Given the description of an element on the screen output the (x, y) to click on. 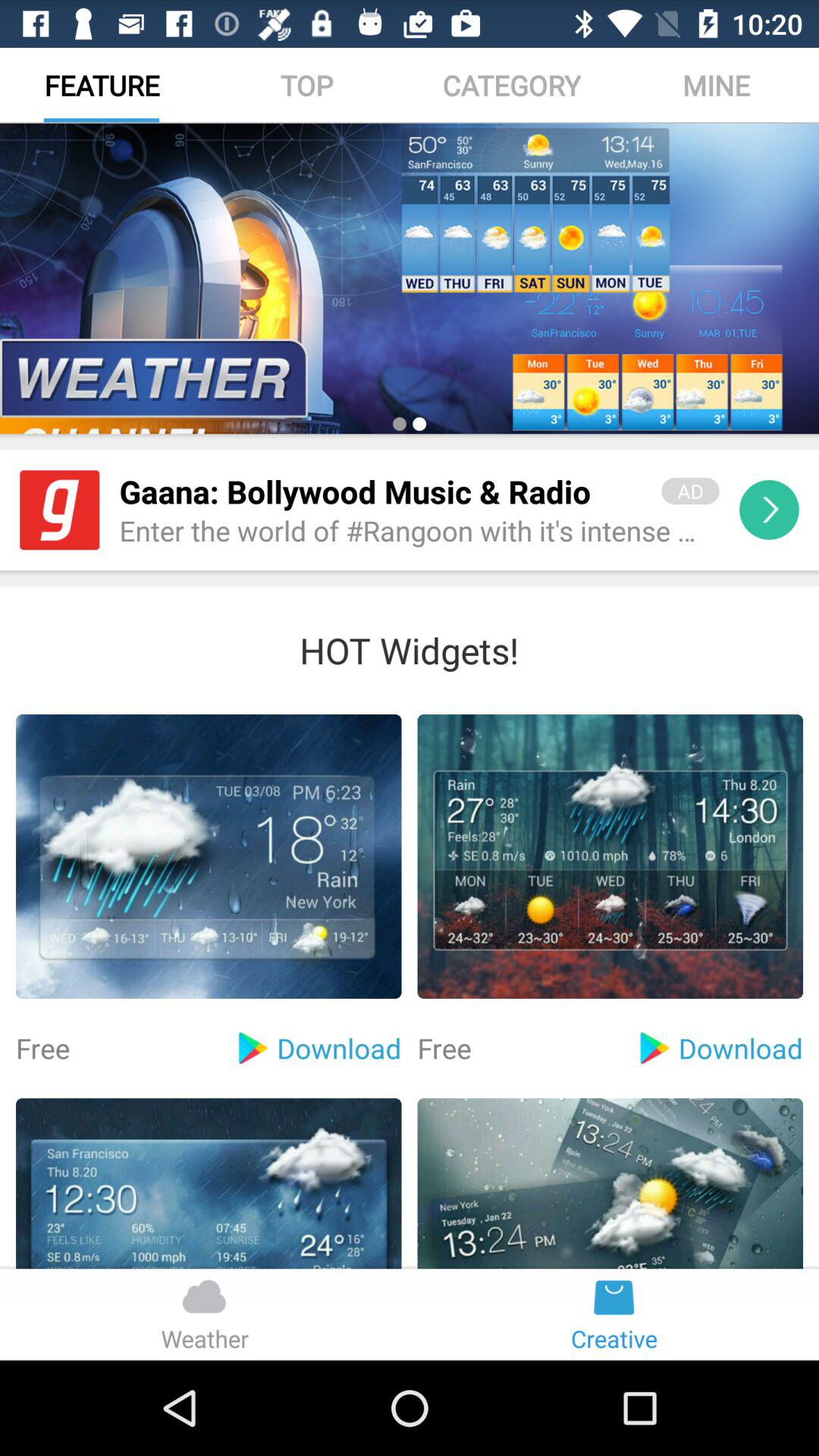
jump until gaana bollywood music (380, 491)
